Given the description of an element on the screen output the (x, y) to click on. 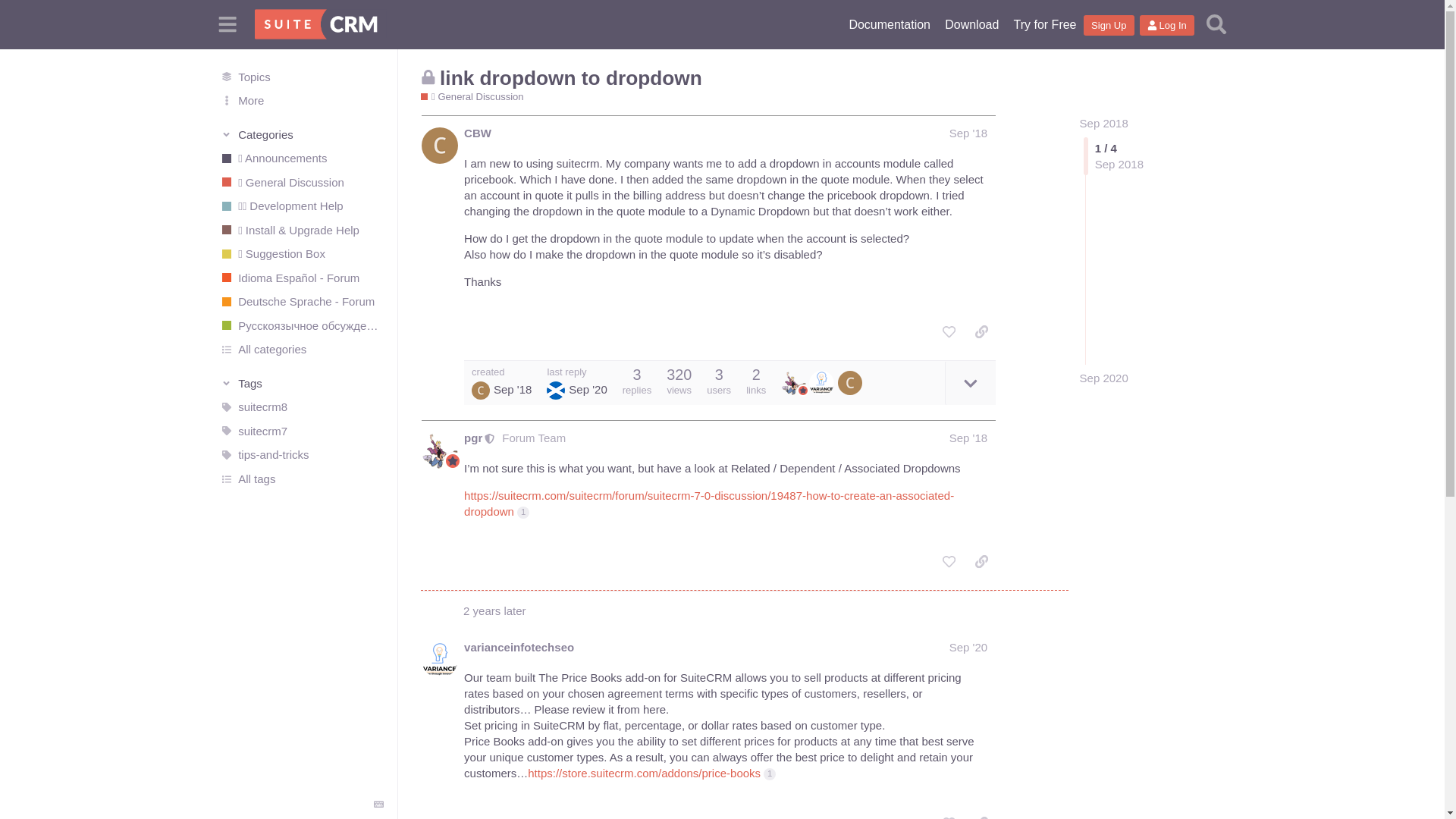
Sep '18 (968, 132)
Sep 2020 (1104, 377)
SuiteCRM is Free and Open Source (971, 24)
All topics (301, 76)
Download (971, 24)
Try for Free (1044, 24)
CBW (478, 132)
Tags (301, 382)
Sign Up (1108, 25)
Sep 2018 (1104, 123)
More (301, 100)
suitecrm8 (301, 406)
Categories (301, 133)
Log In (1166, 25)
